Given the description of an element on the screen output the (x, y) to click on. 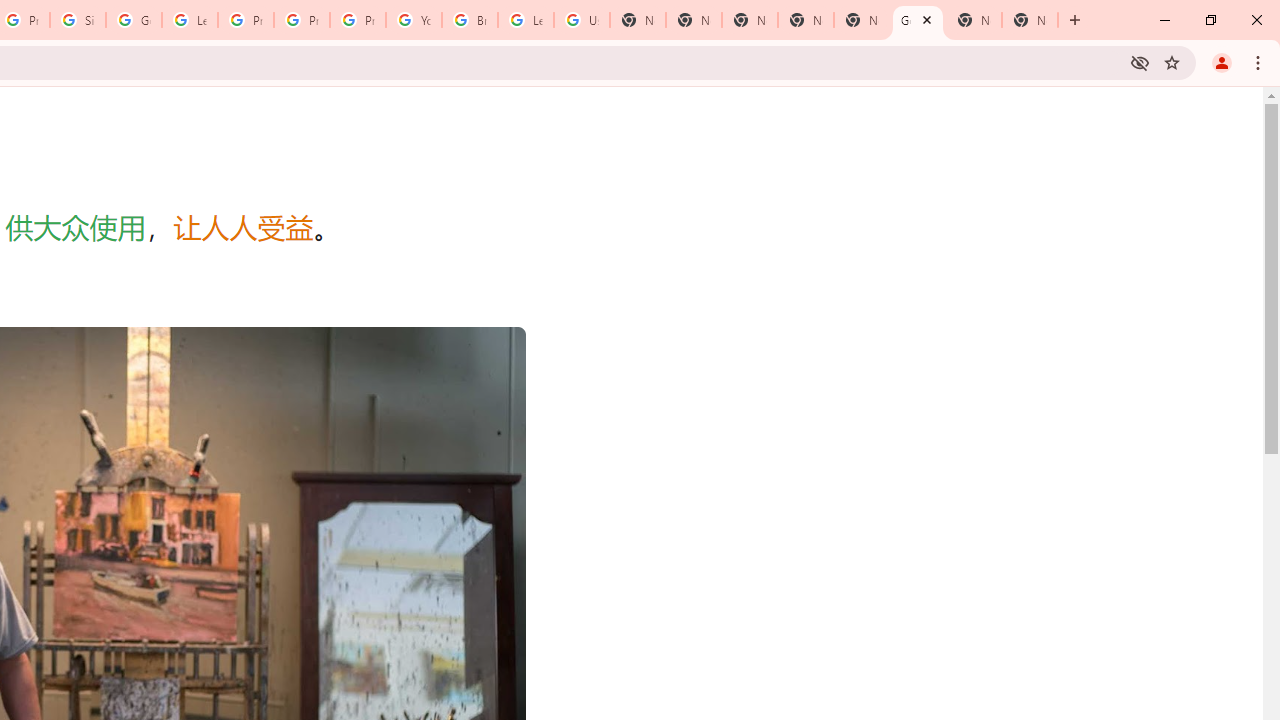
New Tab (749, 20)
Browse Chrome as a guest - Computer - Google Chrome Help (469, 20)
Privacy Help Center - Policies Help (301, 20)
Third-party cookies blocked (1139, 62)
